Given the description of an element on the screen output the (x, y) to click on. 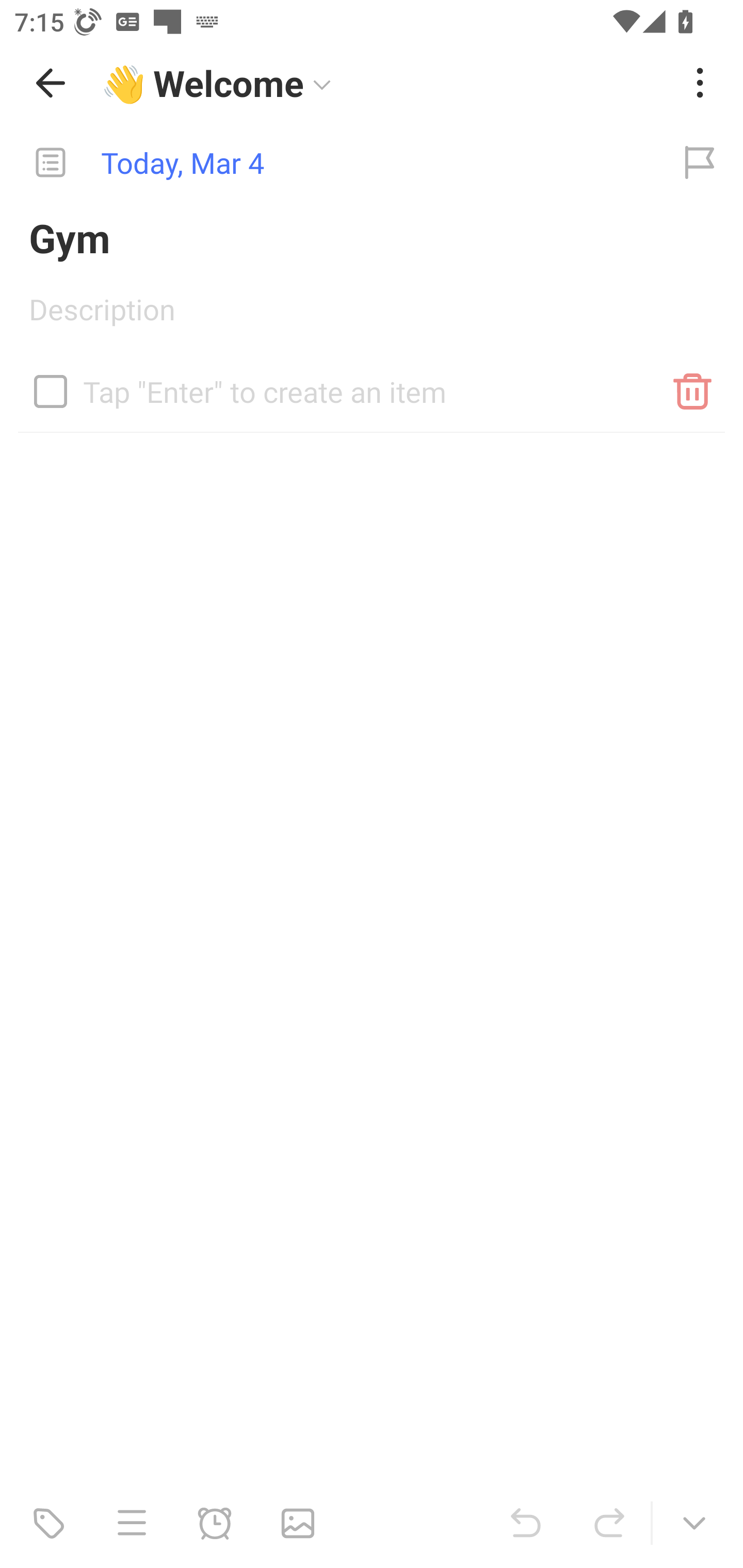
👋 Welcome (384, 82)
Today, Mar 4  (328, 163)
Gym (371, 237)
Description (371, 315)
  (50, 390)
Tap "Enter" to create an item (371, 383)
